Given the description of an element on the screen output the (x, y) to click on. 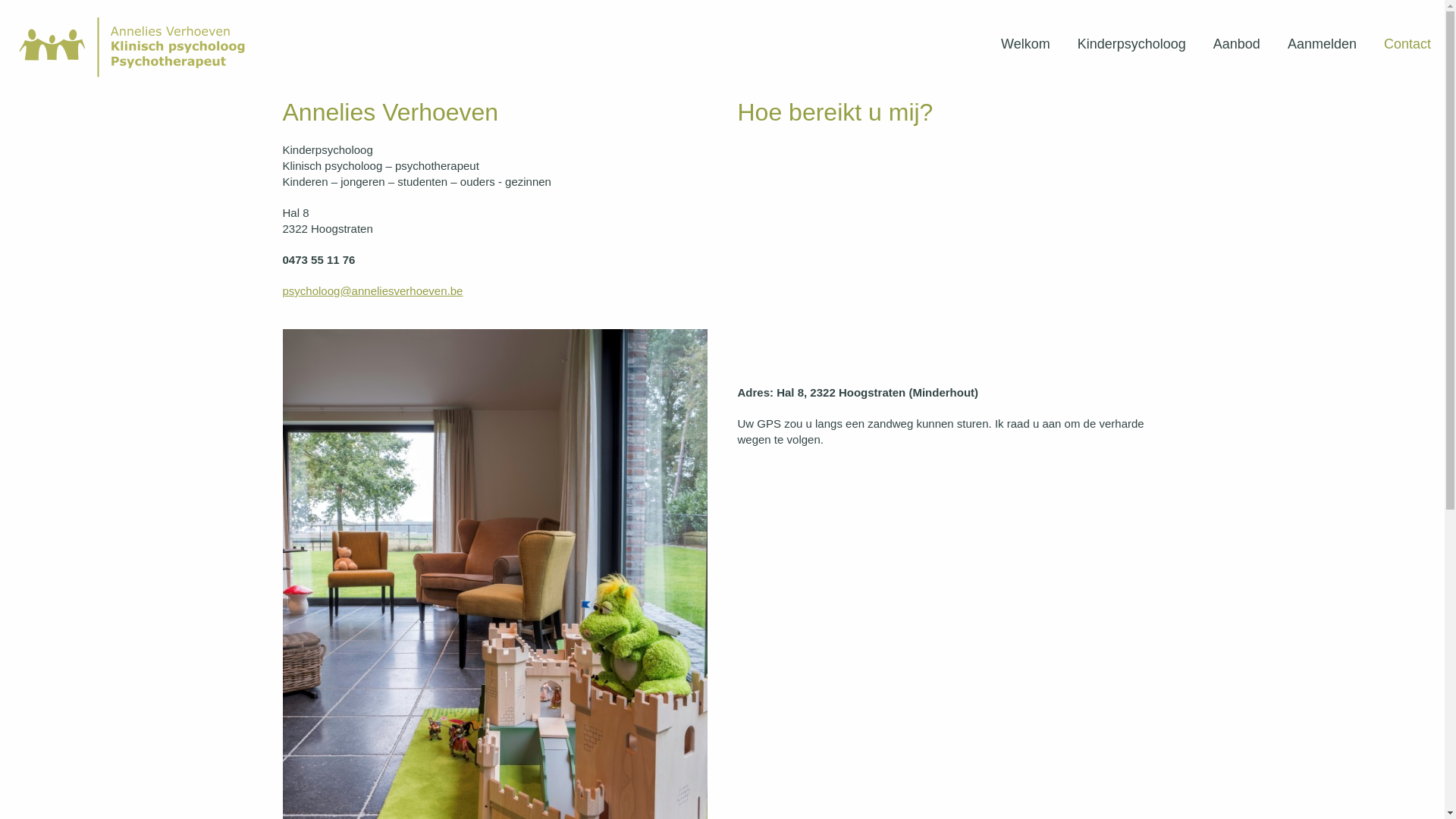
Welkom Element type: text (1025, 44)
Contact Element type: text (1407, 44)
psycholoog@anneliesverhoeven.be Element type: text (372, 290)
Kinderspychologe Annelies Verhoeven Element type: hover (136, 46)
Aanmelden Element type: text (1322, 44)
Kinderpsycholoog Element type: text (1131, 44)
Aanbod Element type: text (1236, 44)
